Given the description of an element on the screen output the (x, y) to click on. 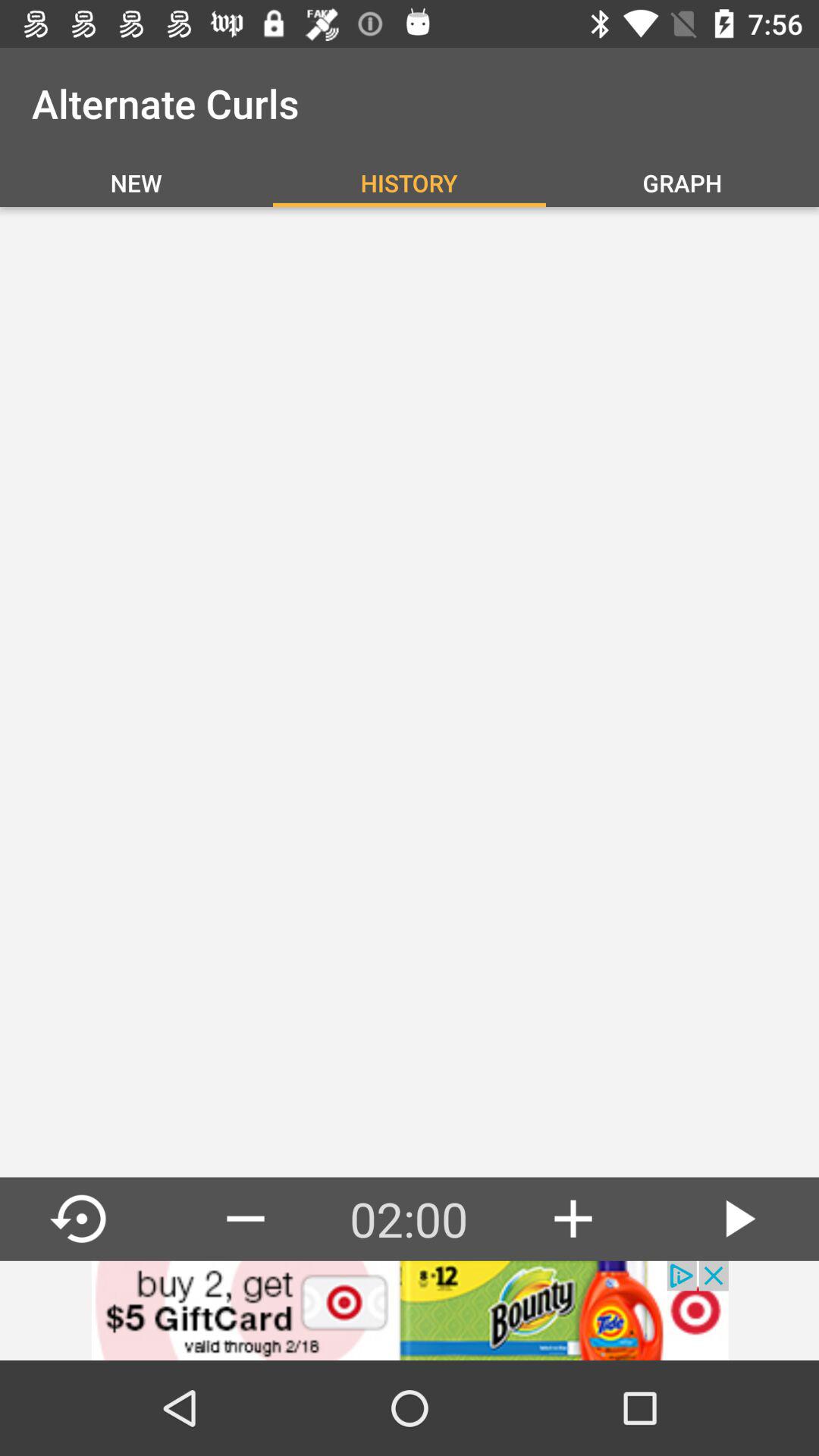
click the advertisement (409, 1310)
